Given the description of an element on the screen output the (x, y) to click on. 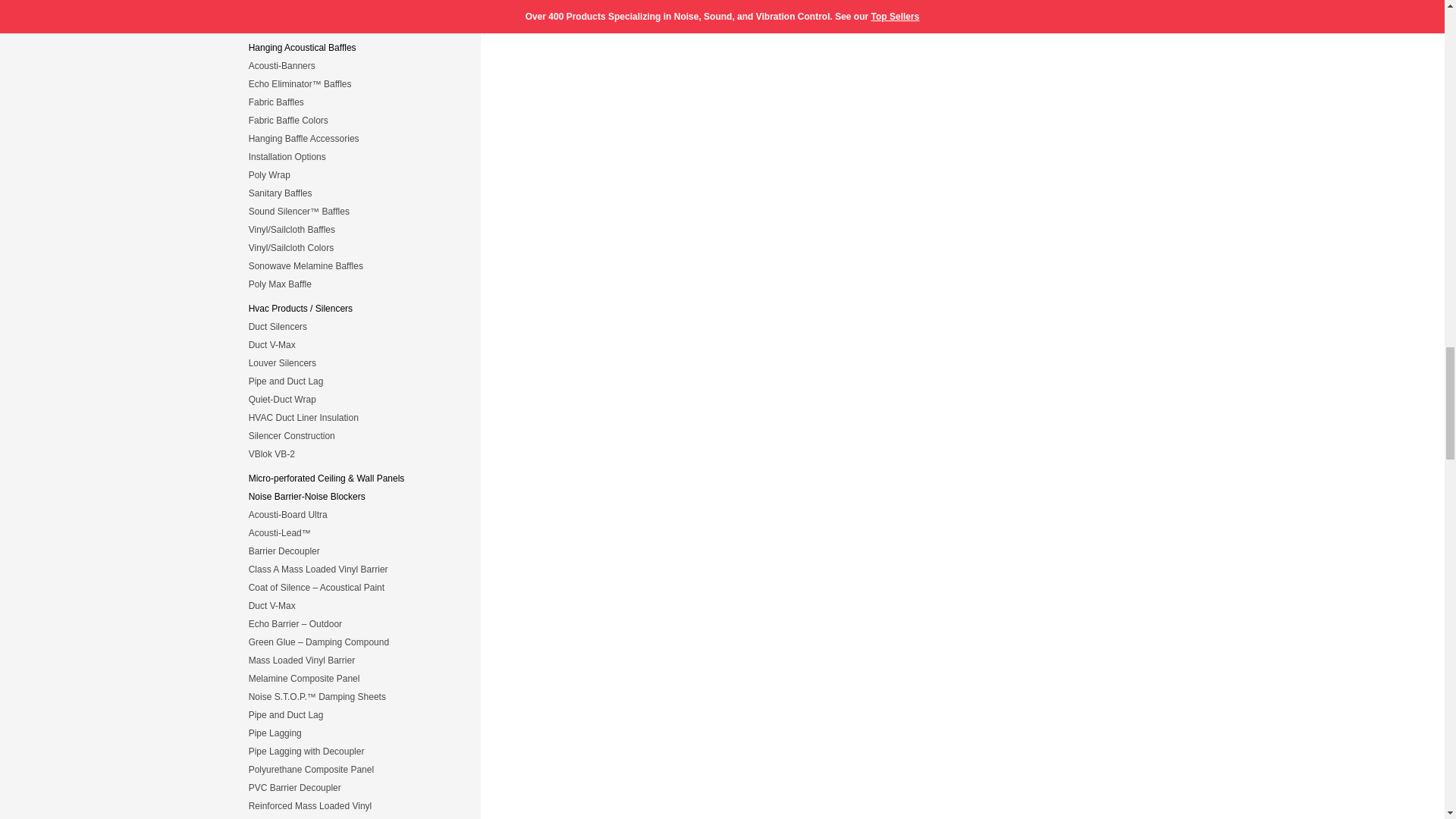
Recycled Cotton Acoustical Duct Wrap (352, 399)
Soundproofing Backer (352, 514)
Vibration Damper (352, 345)
Vibration Damping Sheet (352, 453)
Sanitary Series Encapsulated Acoustical Baffles (352, 193)
Floor Impact Noise Reduction Underlayment (352, 5)
